Given the description of an element on the screen output the (x, y) to click on. 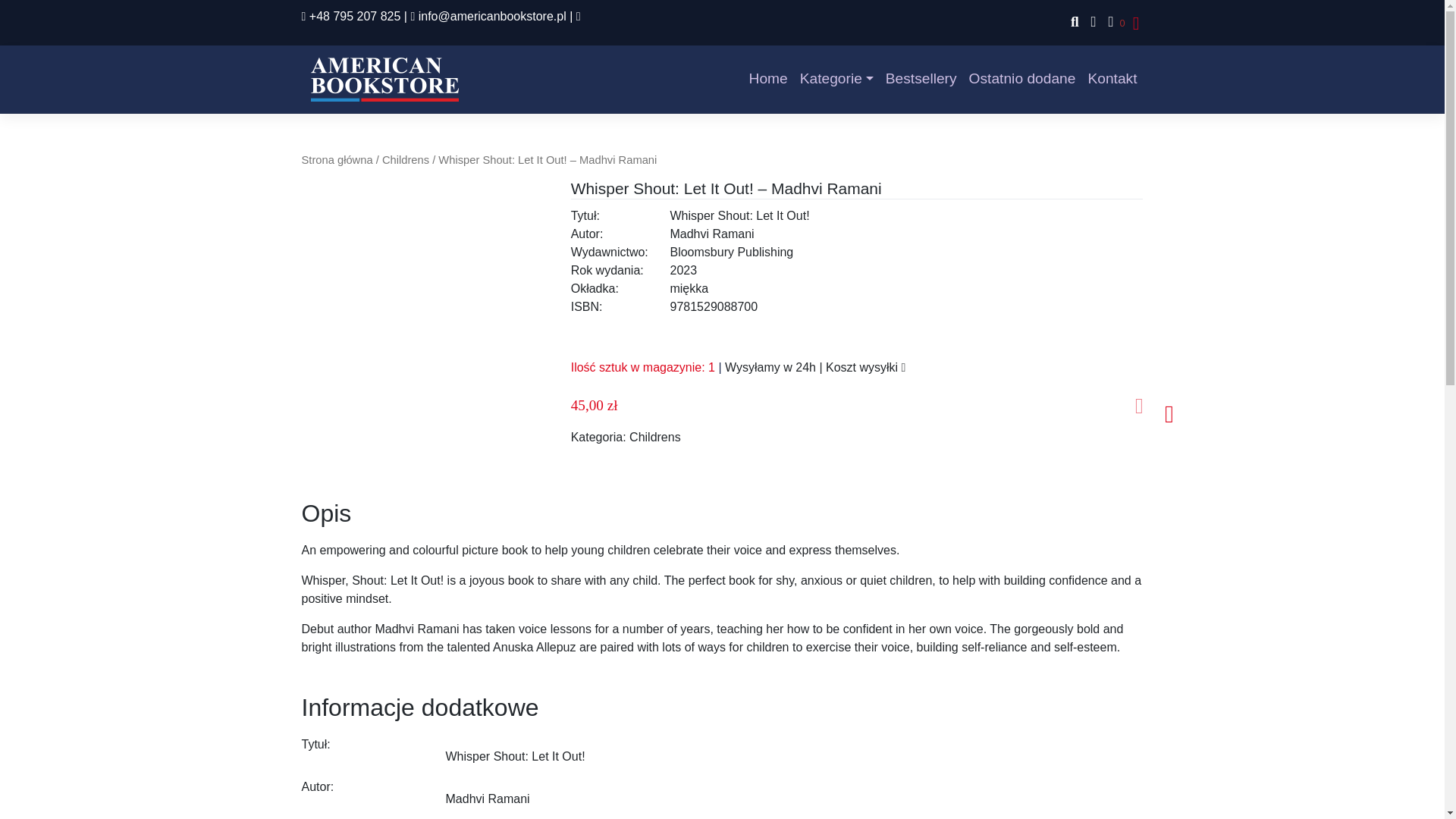
Home (767, 79)
0 (1113, 22)
Kategorie (836, 79)
Home (767, 79)
Kategorie (836, 79)
